Given the description of an element on the screen output the (x, y) to click on. 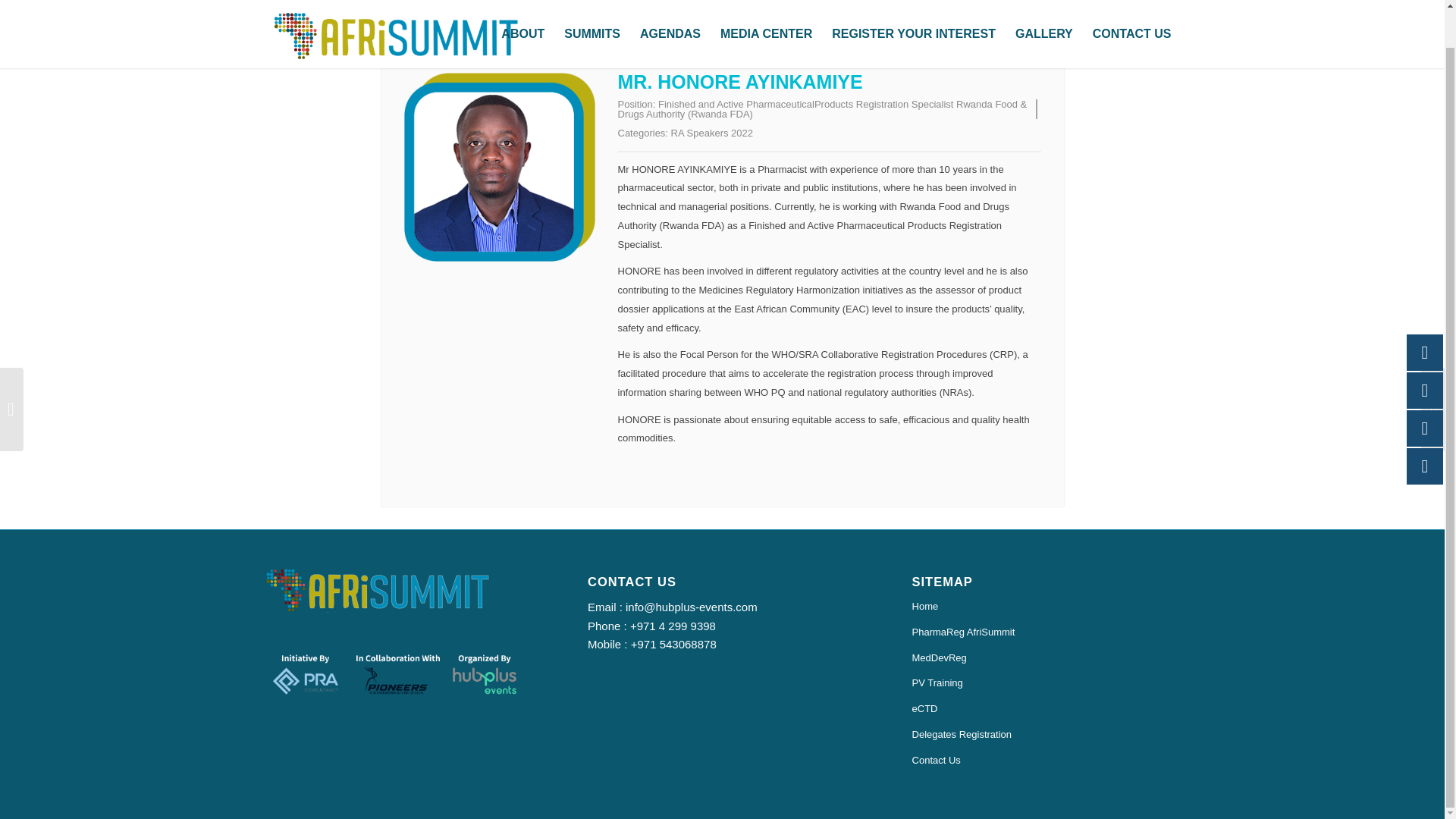
MEDIA CENTER (766, 14)
REGISTER YOUR INTEREST (914, 14)
AGENDAS (670, 14)
Home (1046, 606)
MedDevReg (1046, 658)
eCTD (1046, 709)
PharmaReg AfriSummit (1046, 632)
SUMMITS (592, 14)
Contact Us (1046, 760)
CONTACT US (1131, 14)
ABOUT (523, 14)
PV Training (1046, 683)
Delegates Registration (1046, 735)
GALLERY (1044, 14)
